Given the description of an element on the screen output the (x, y) to click on. 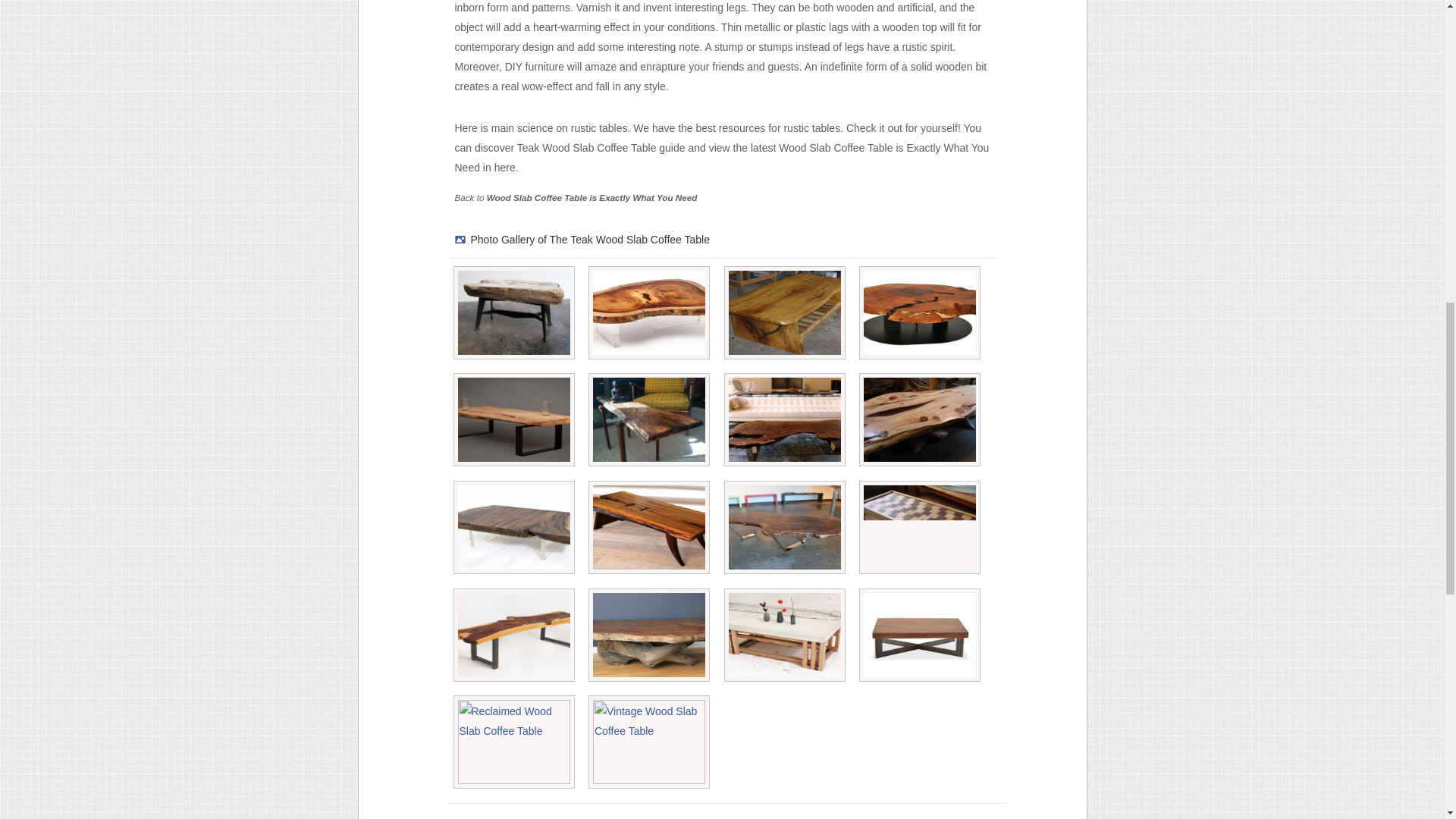
here (505, 167)
Return to Wood Slab Coffee Table is Exactly What You Need (591, 197)
Wood Slab Coffee Table is Exactly What You Need (591, 197)
